Given the description of an element on the screen output the (x, y) to click on. 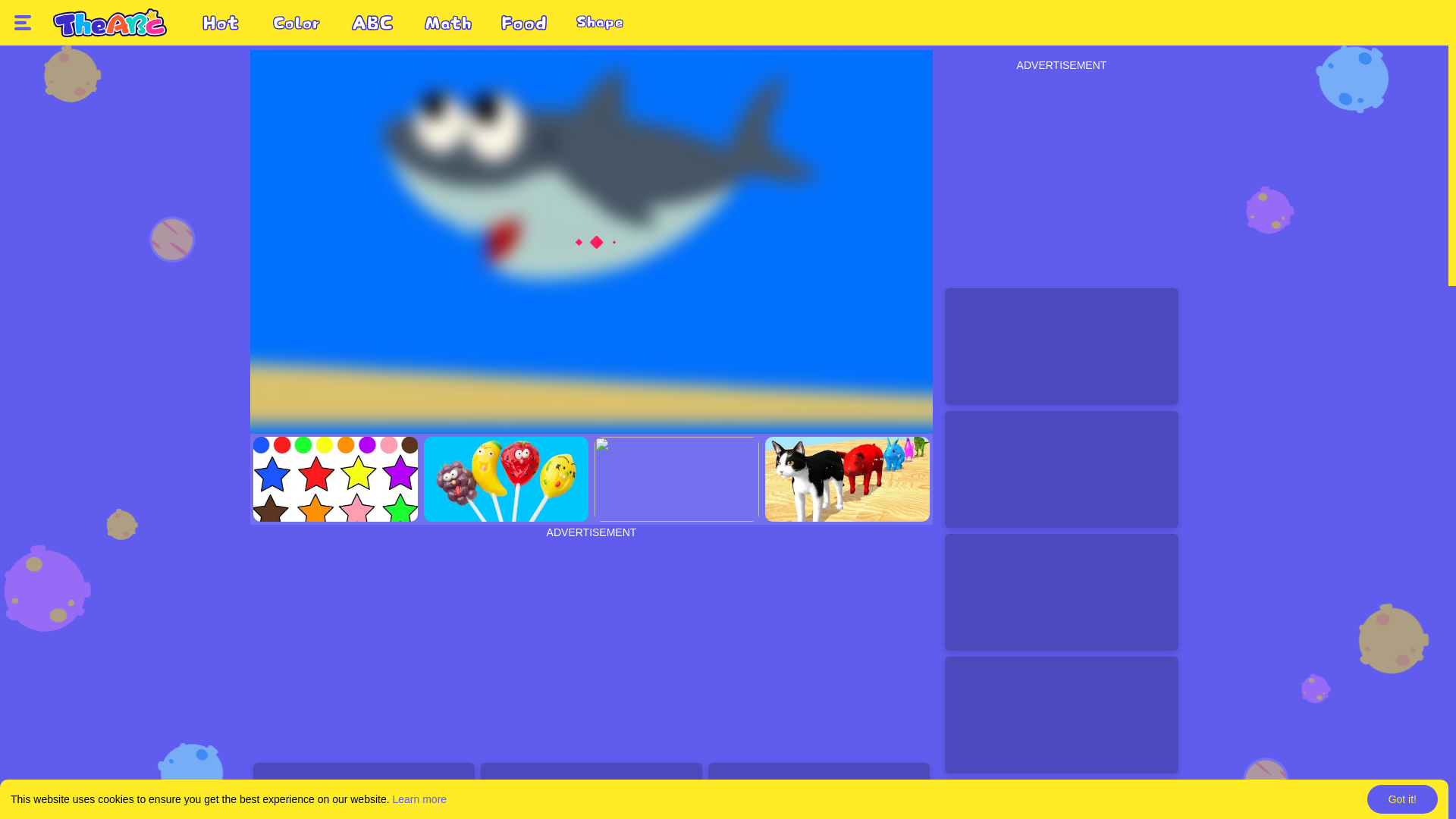
Climb the beanstalk with Jack (818, 790)
Play with puss in boots (363, 790)
